Given the description of an element on the screen output the (x, y) to click on. 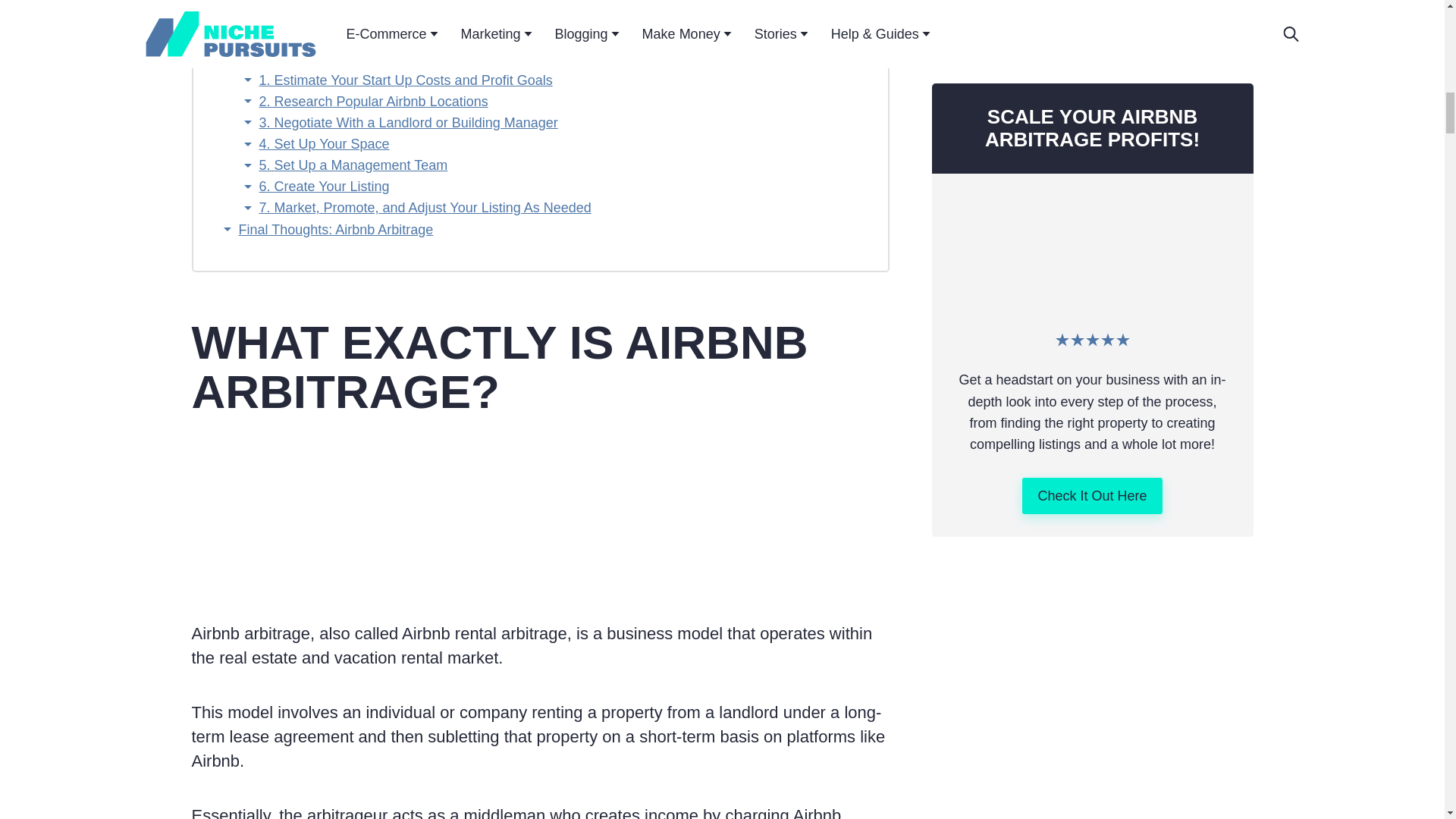
What Exactly Is Airbnb Arbitrage? (339, 1)
Do You Need Money For Airbnb Arbitrage? (367, 37)
Does Airbnb Allow Arbitrage? (325, 16)
How To Get Started With an Airbnb Arbitrage Strategy (400, 58)
